Given the description of an element on the screen output the (x, y) to click on. 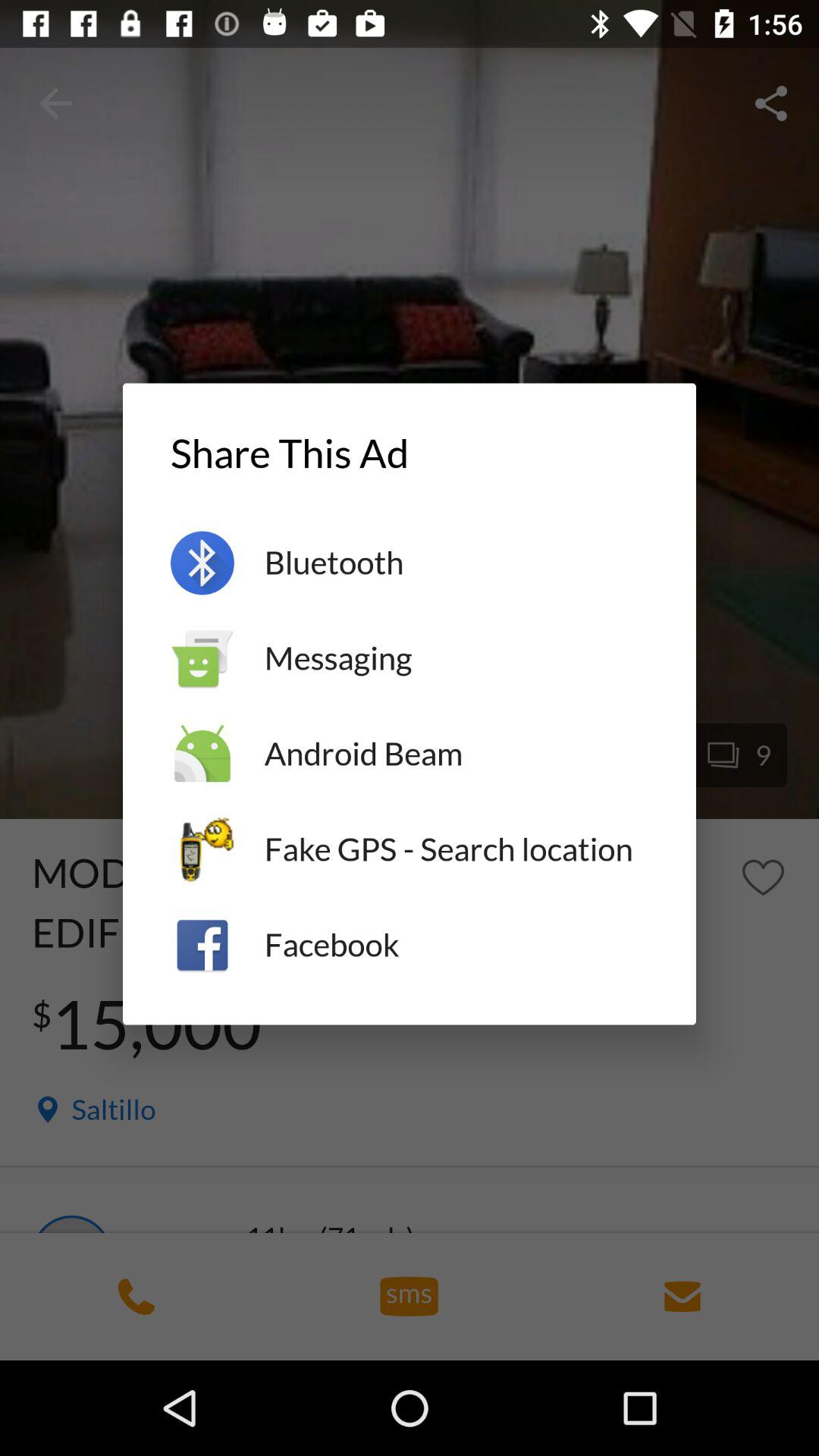
open the fake gps search (456, 849)
